Given the description of an element on the screen output the (x, y) to click on. 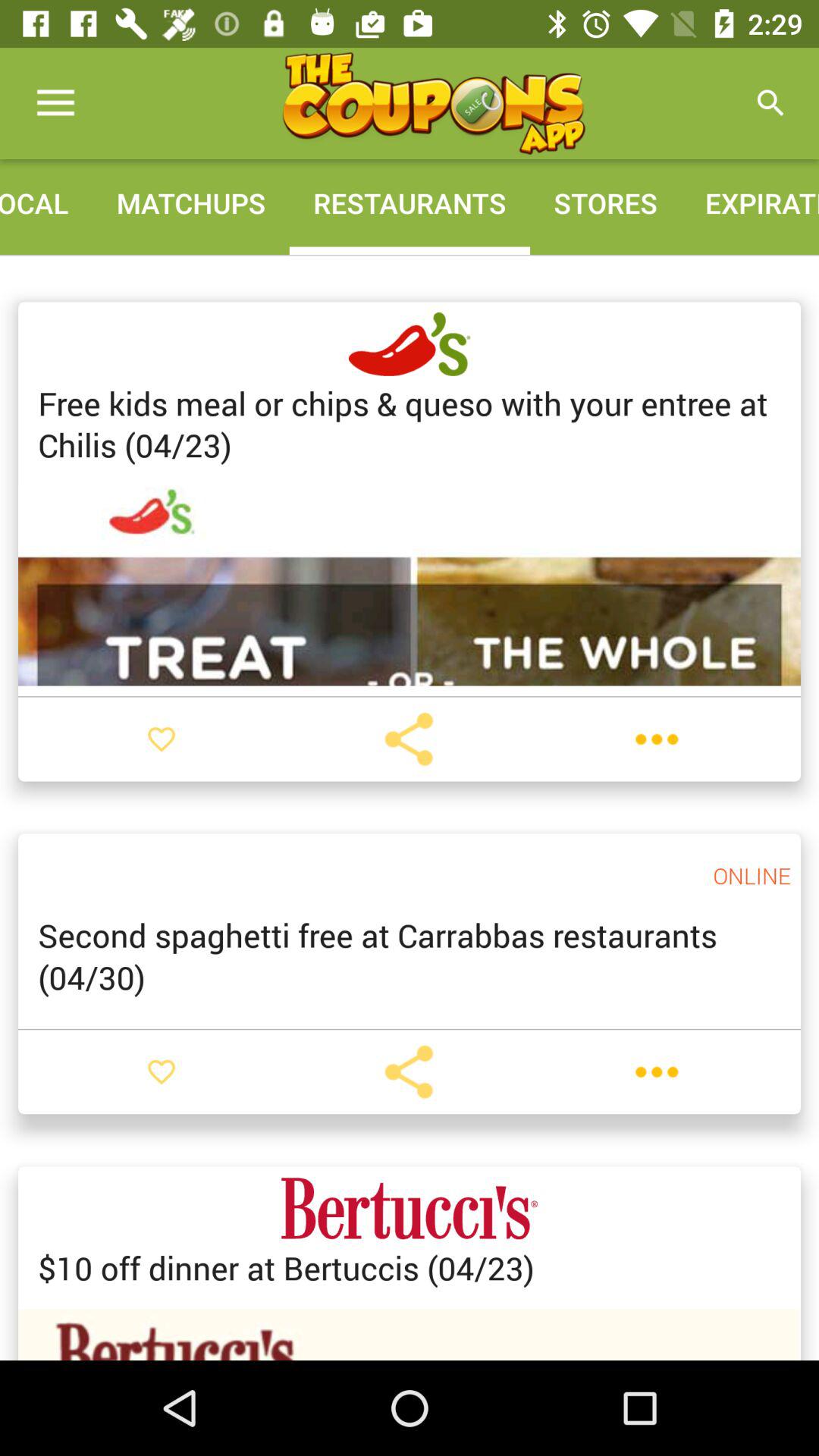
choose icon to the right of the local (190, 202)
